Given the description of an element on the screen output the (x, y) to click on. 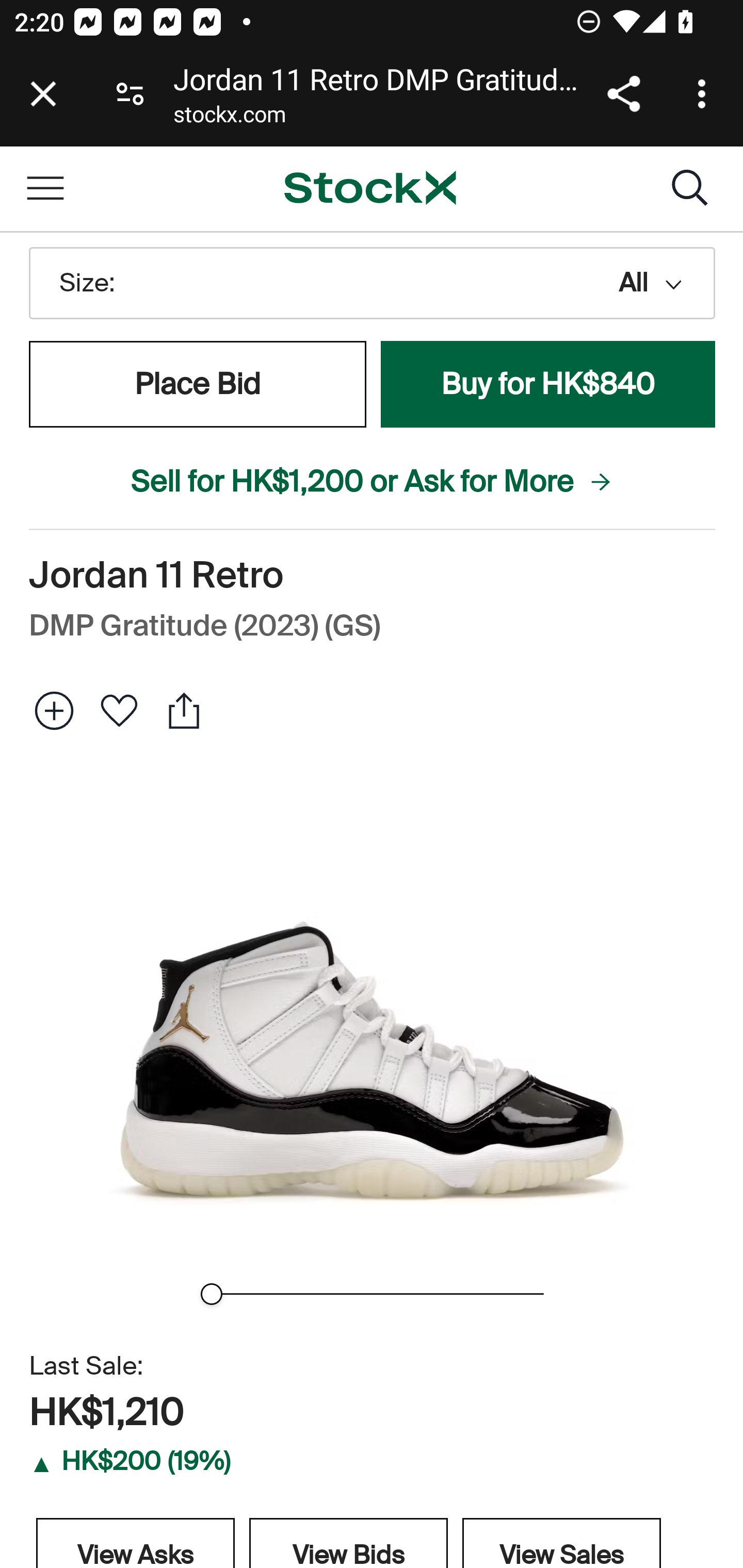
Close tab (43, 93)
Share link address (623, 93)
Customize and control Google Chrome (705, 93)
Connection is secure (129, 93)
stockx.com (229, 117)
